Given the description of an element on the screen output the (x, y) to click on. 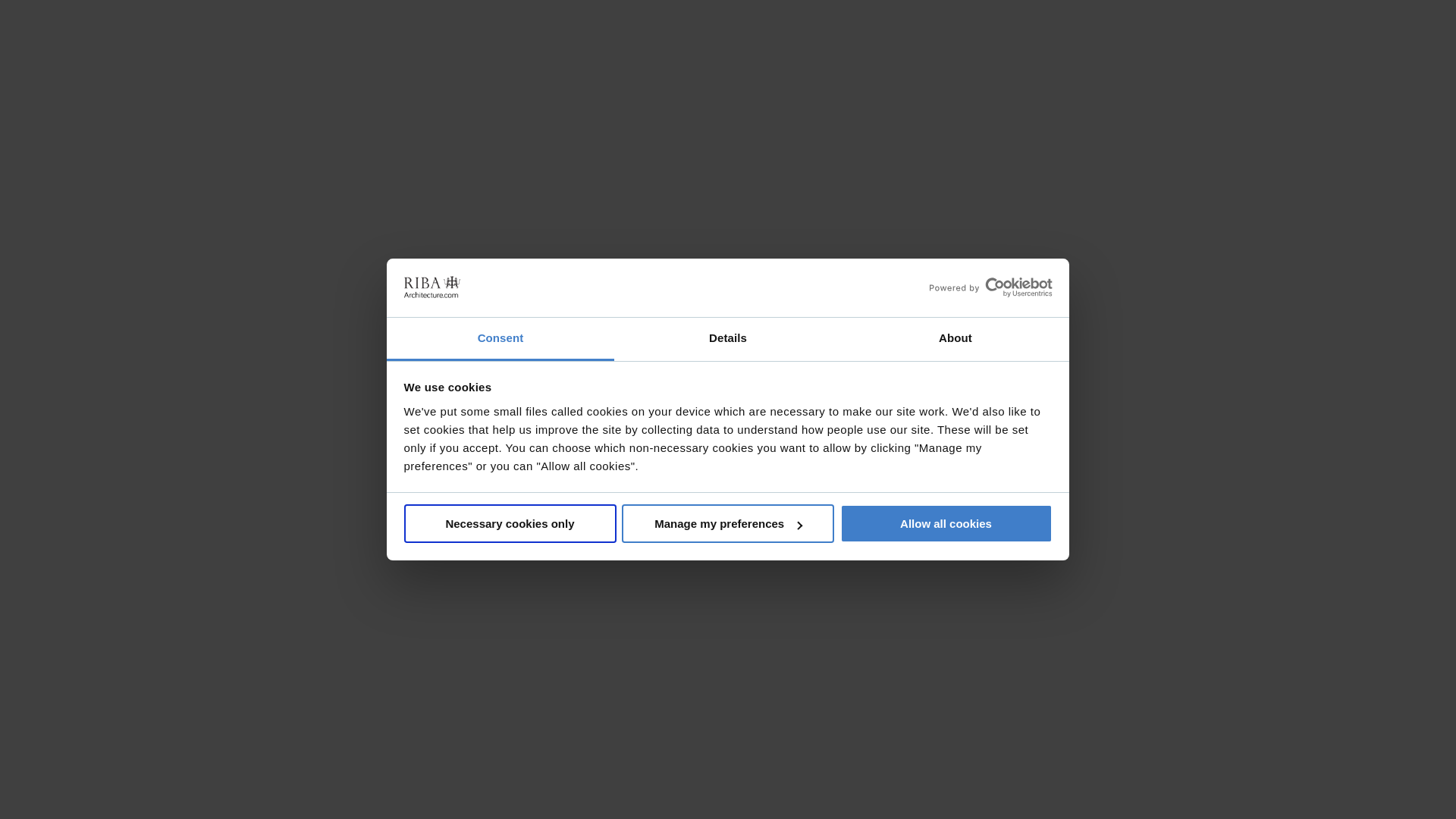
Details (727, 339)
Consent (500, 339)
Search (1272, 69)
King's School, Ely: courtya... (377, 185)
About (954, 339)
King's School, Ely: main en... (1078, 185)
Search (1272, 69)
Necessary cookies only (509, 523)
Allow all cookies (946, 523)
Manage my preferences (727, 523)
